Given the description of an element on the screen output the (x, y) to click on. 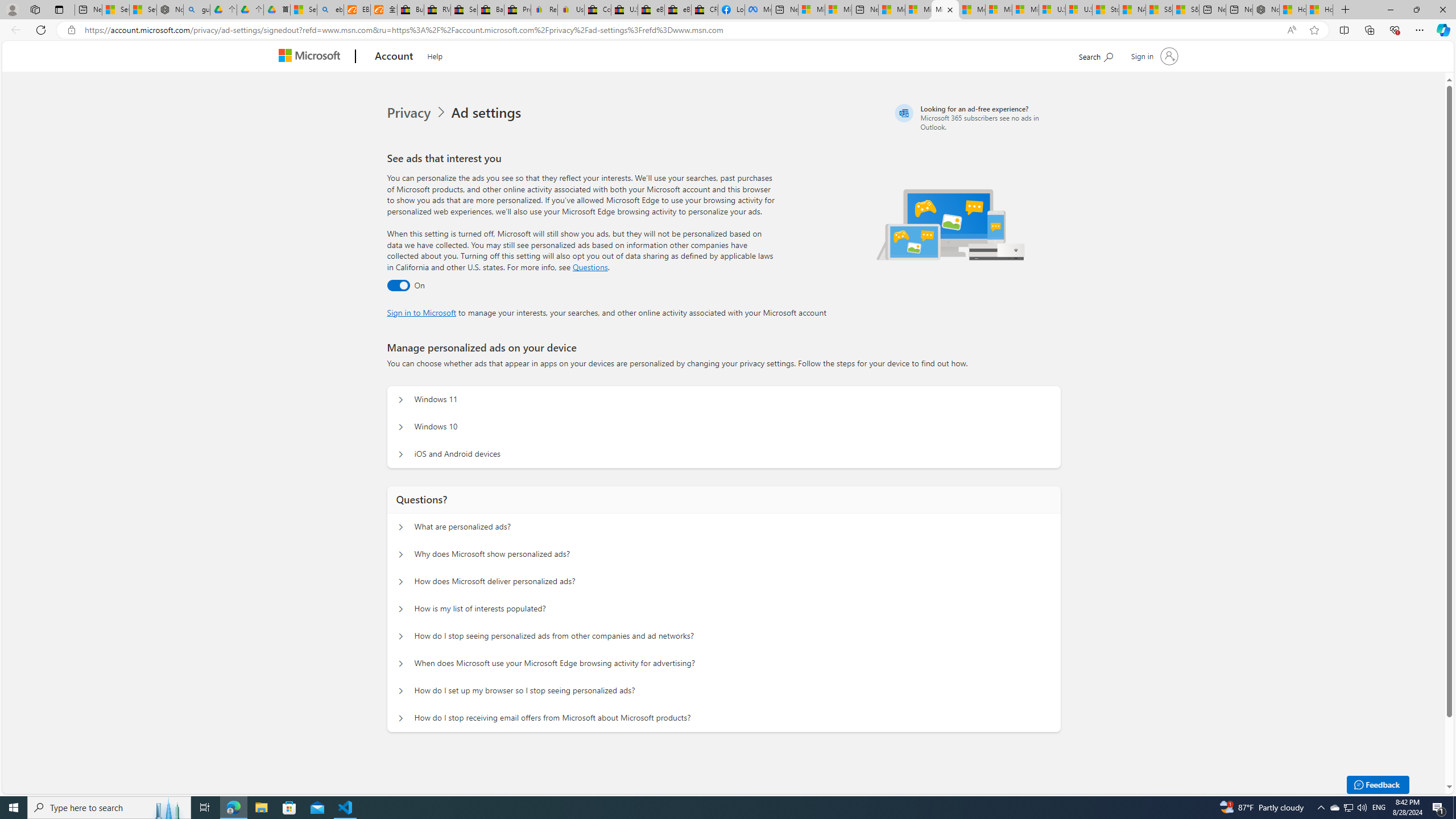
guge yunpan - Search (197, 9)
eBay Inc. Reports Third Quarter 2023 Results (677, 9)
Account (394, 56)
Looking for an ad-free experience? (976, 117)
Search Microsoft.com (1095, 54)
Press Room - eBay Inc. (517, 9)
Register: Create a personal eBay account (543, 9)
